Given the description of an element on the screen output the (x, y) to click on. 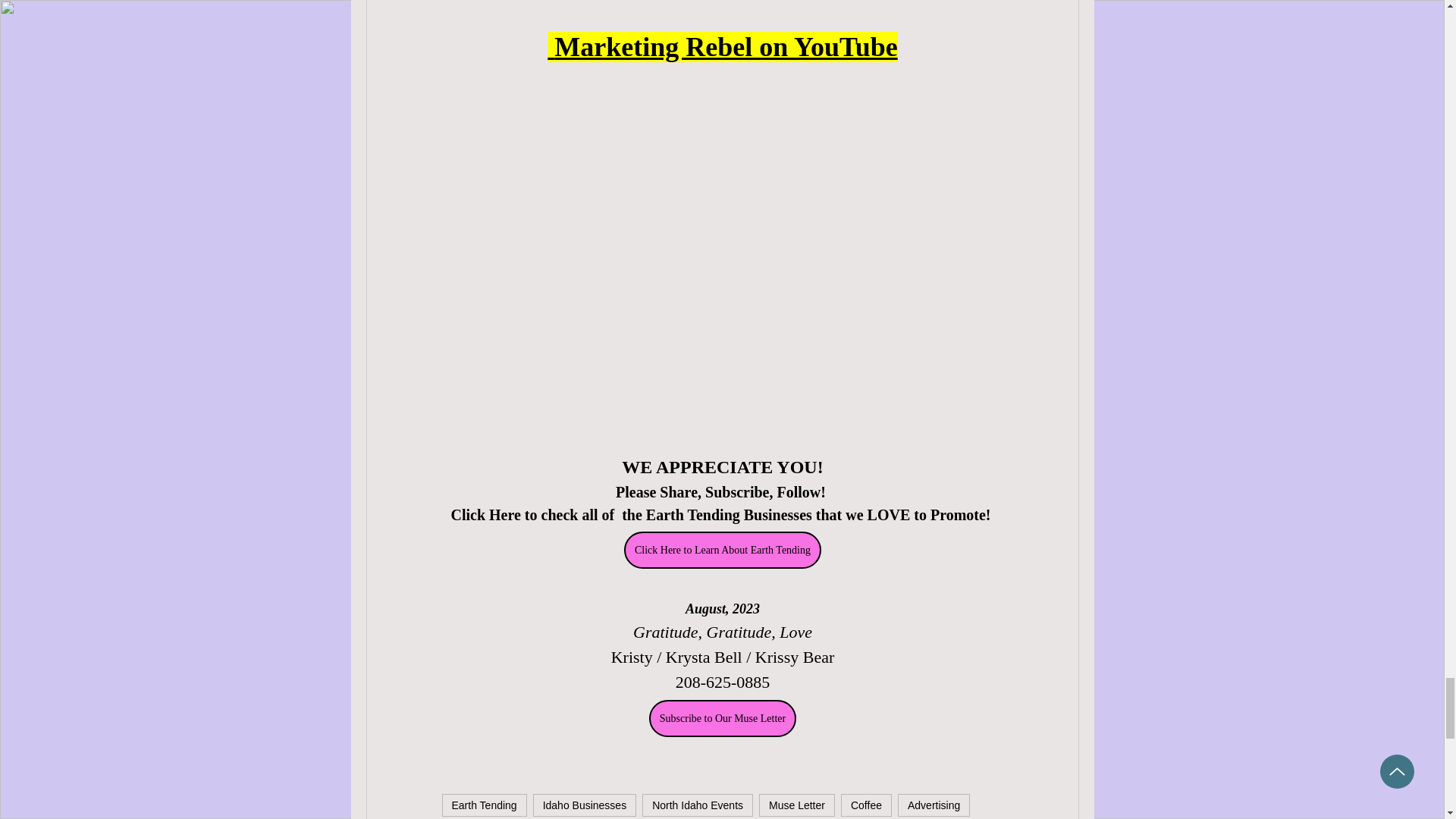
North Idaho Events (697, 804)
Subscribe to Our Muse Letter (720, 718)
Earth Tending (483, 804)
Click Here to Learn About Earth Tending (722, 549)
Idaho Businesses (584, 804)
Muse Letter (796, 804)
